Given the description of an element on the screen output the (x, y) to click on. 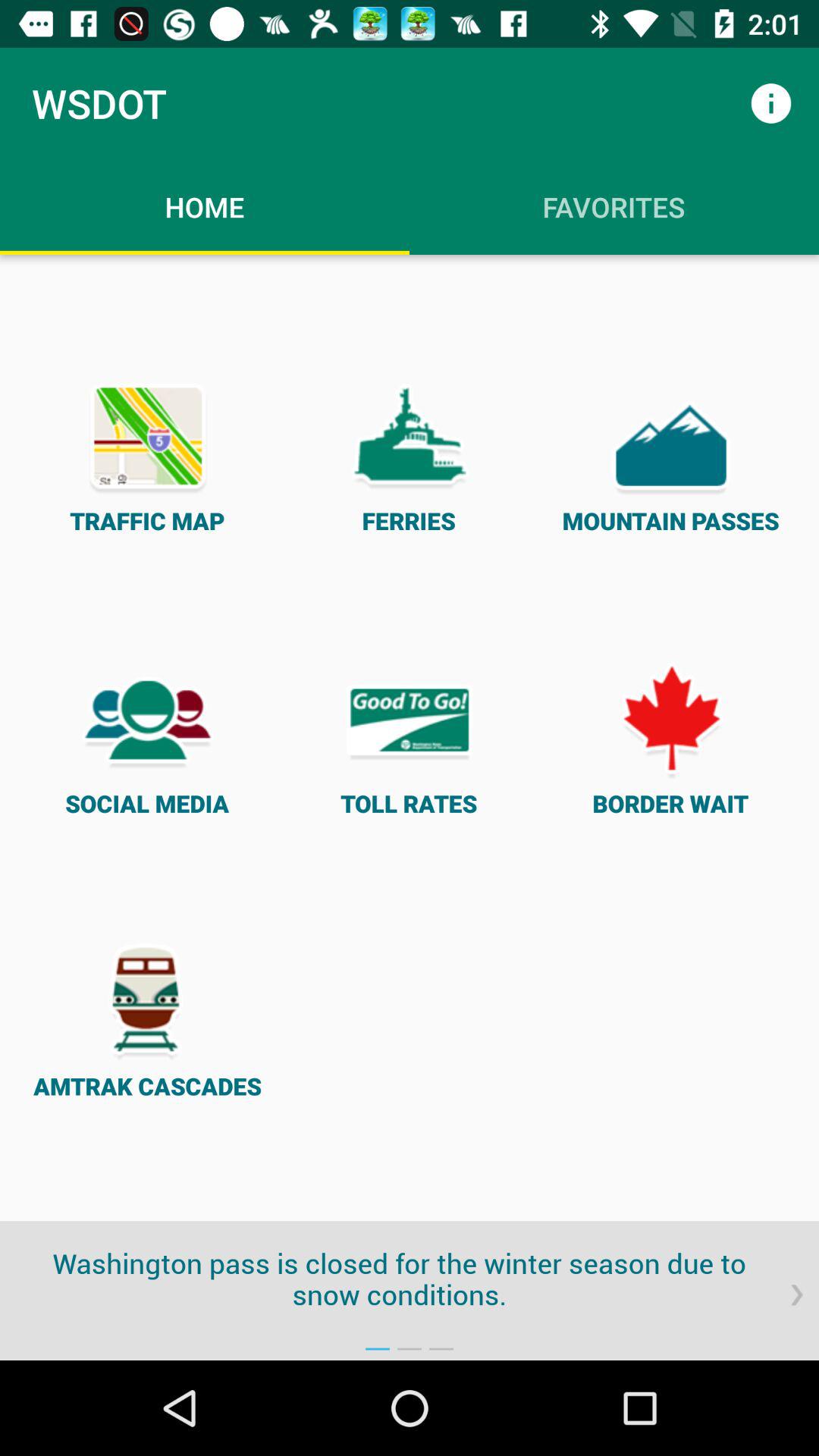
press the item next to ferries item (670, 455)
